Given the description of an element on the screen output the (x, y) to click on. 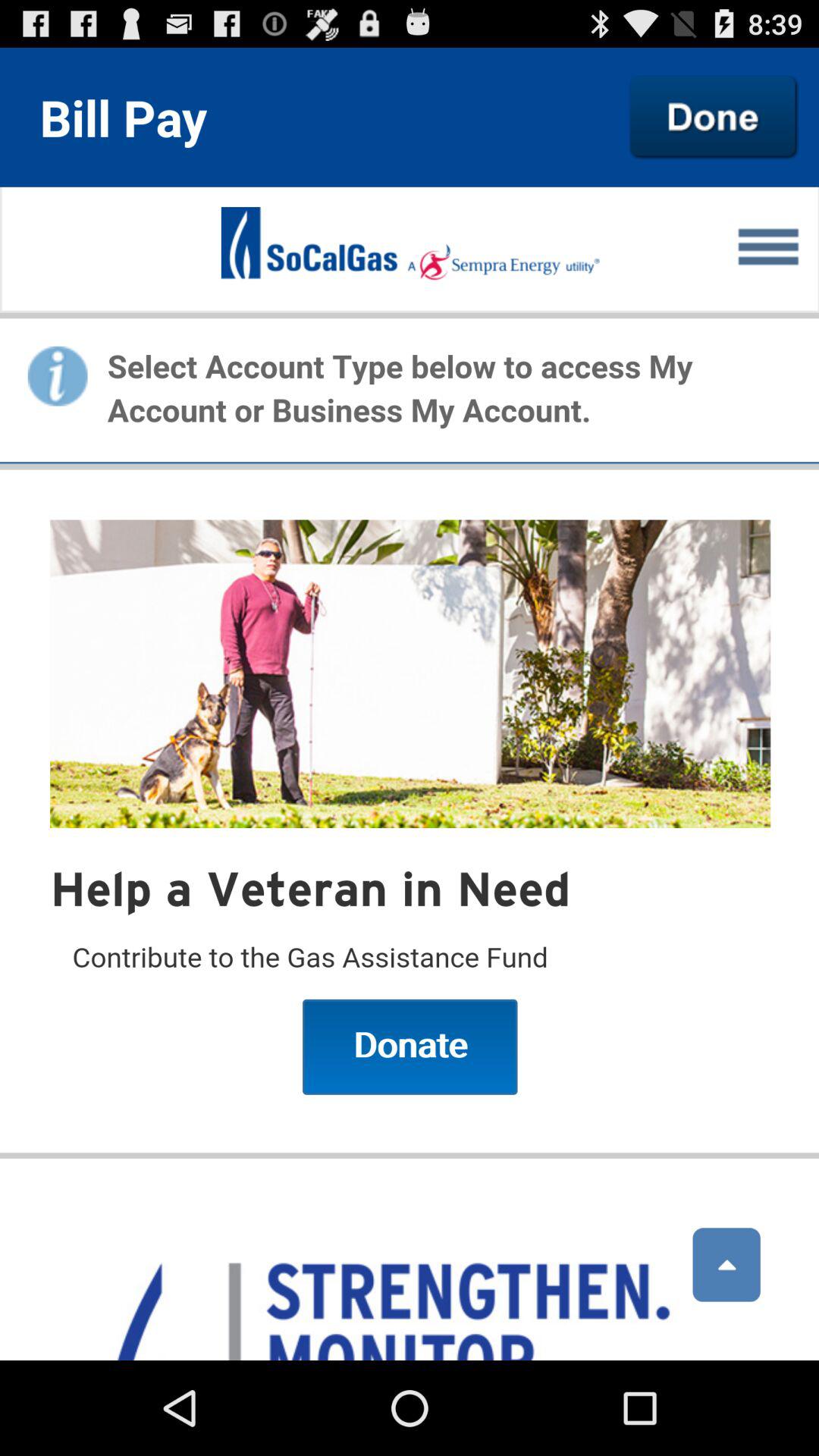
men (409, 773)
